Given the description of an element on the screen output the (x, y) to click on. 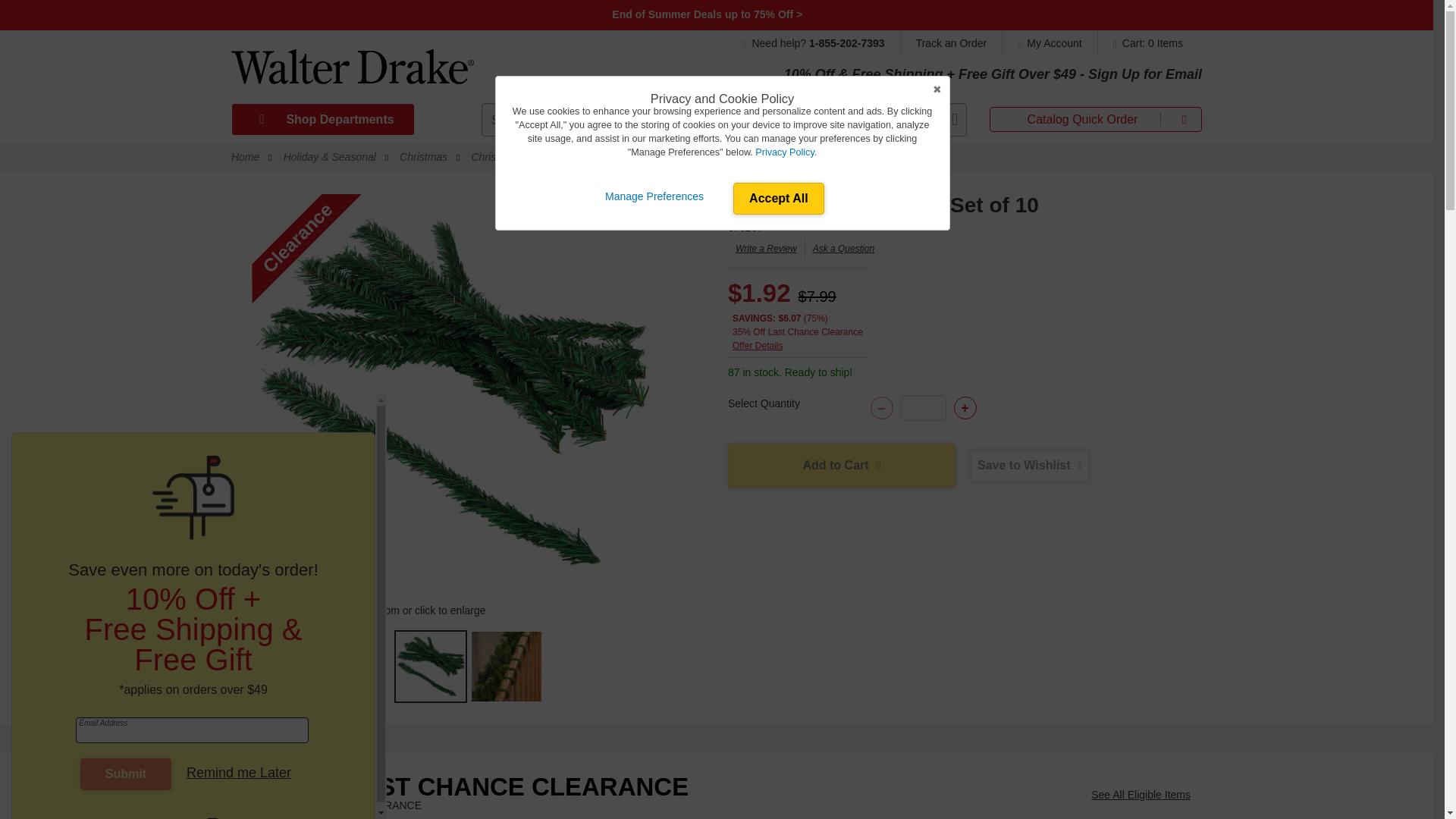
Item Quantity: 1 (923, 407)
Homepage Link (351, 72)
Need help? 1-855-202-7393 (820, 43)
Increase (964, 407)
My Account (1050, 43)
Recommendation Link (1140, 794)
sale (707, 14)
Shop Departments  (322, 119)
Cart: 0 Items (1144, 43)
Track an Order (952, 43)
